Given the description of an element on the screen output the (x, y) to click on. 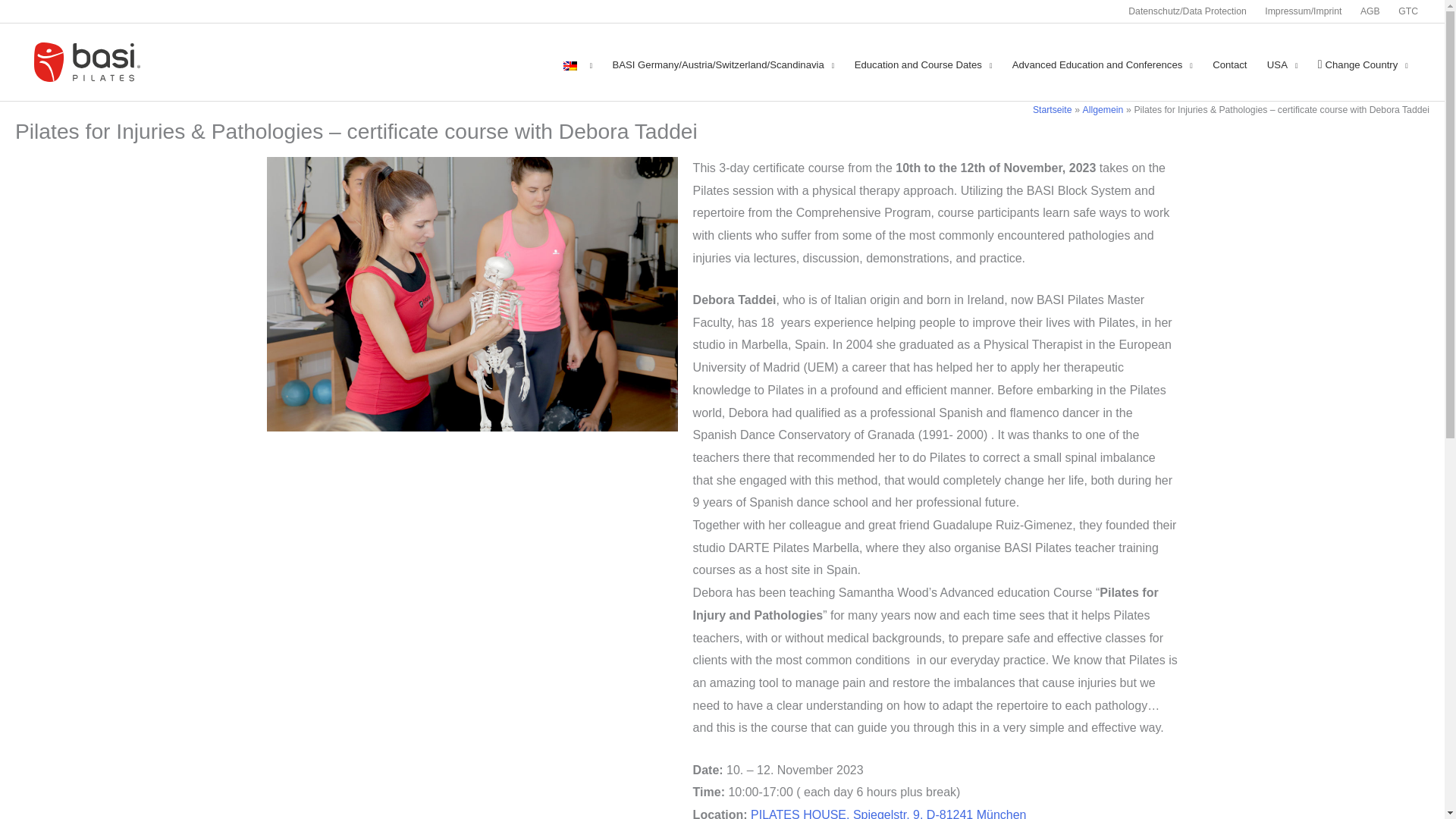
Education and Course Dates (923, 65)
GTC (1403, 11)
AGB (1370, 11)
Change Country (1362, 65)
Advanced Education and Conferences (1102, 65)
Contact (1229, 65)
USA (1282, 65)
